Given the description of an element on the screen output the (x, y) to click on. 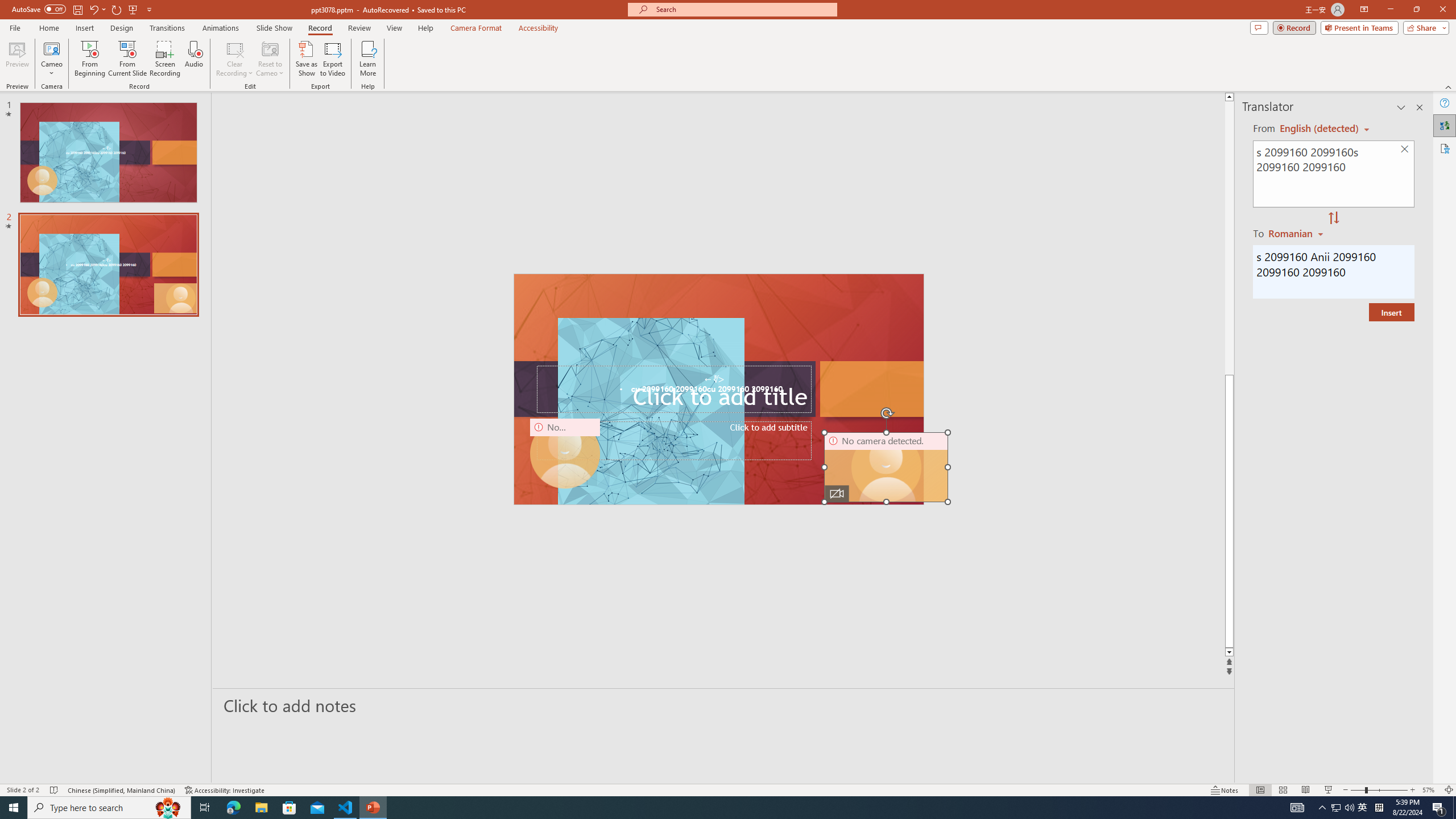
Reset to Cameo (269, 58)
Accessibility Checker Accessibility: Investigate (224, 790)
Audio (193, 58)
Review (359, 28)
Title TextBox (673, 389)
From Beginning (133, 9)
Class: MsoCommandBar (728, 789)
Clear Recording (234, 58)
Minimize (1390, 9)
Animations (220, 28)
Line up (1427, 96)
Camera 11, No camera detected. (886, 466)
TextBox 61 (717, 390)
